Given the description of an element on the screen output the (x, y) to click on. 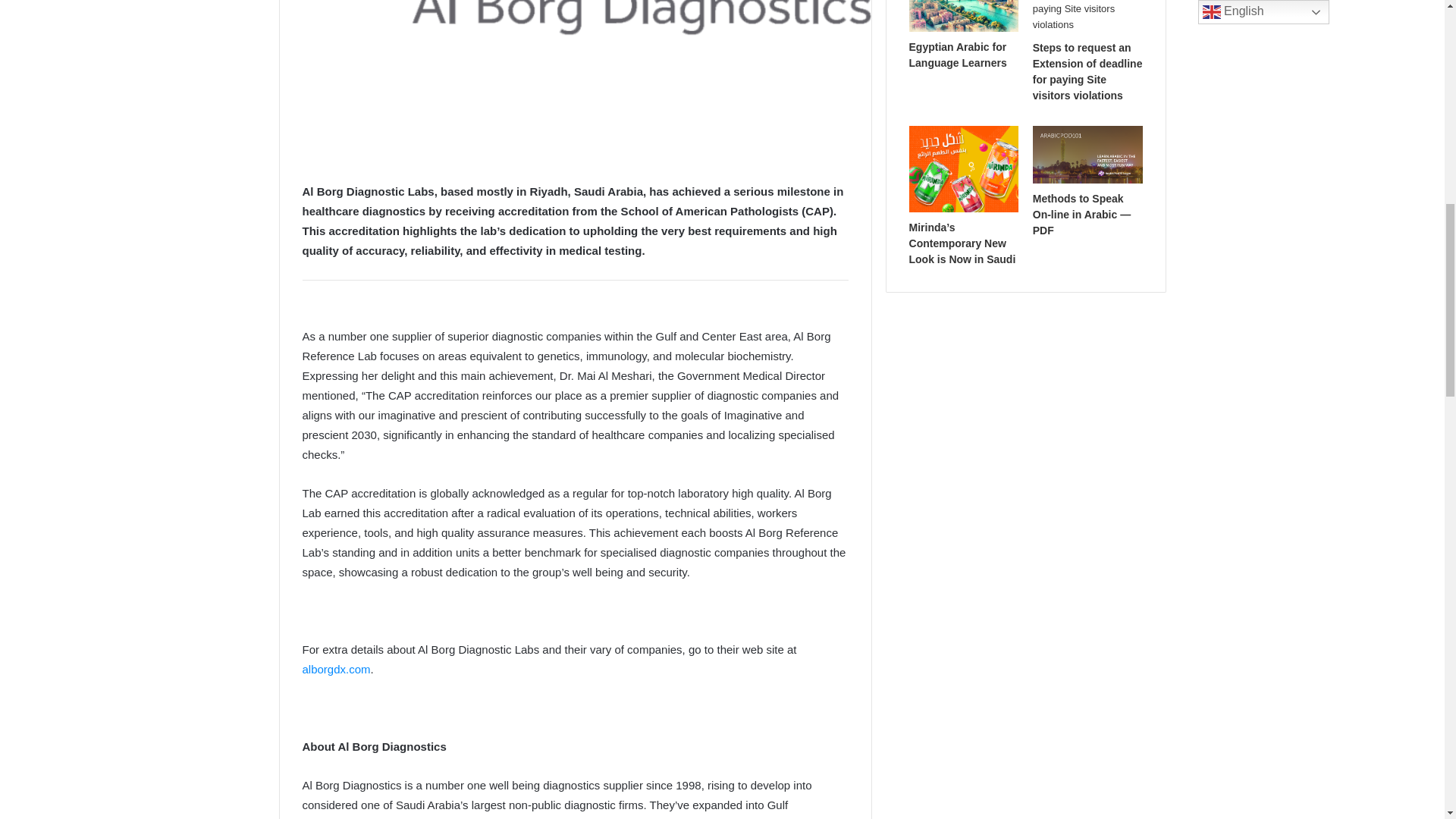
alborgdx.com (335, 668)
